Given the description of an element on the screen output the (x, y) to click on. 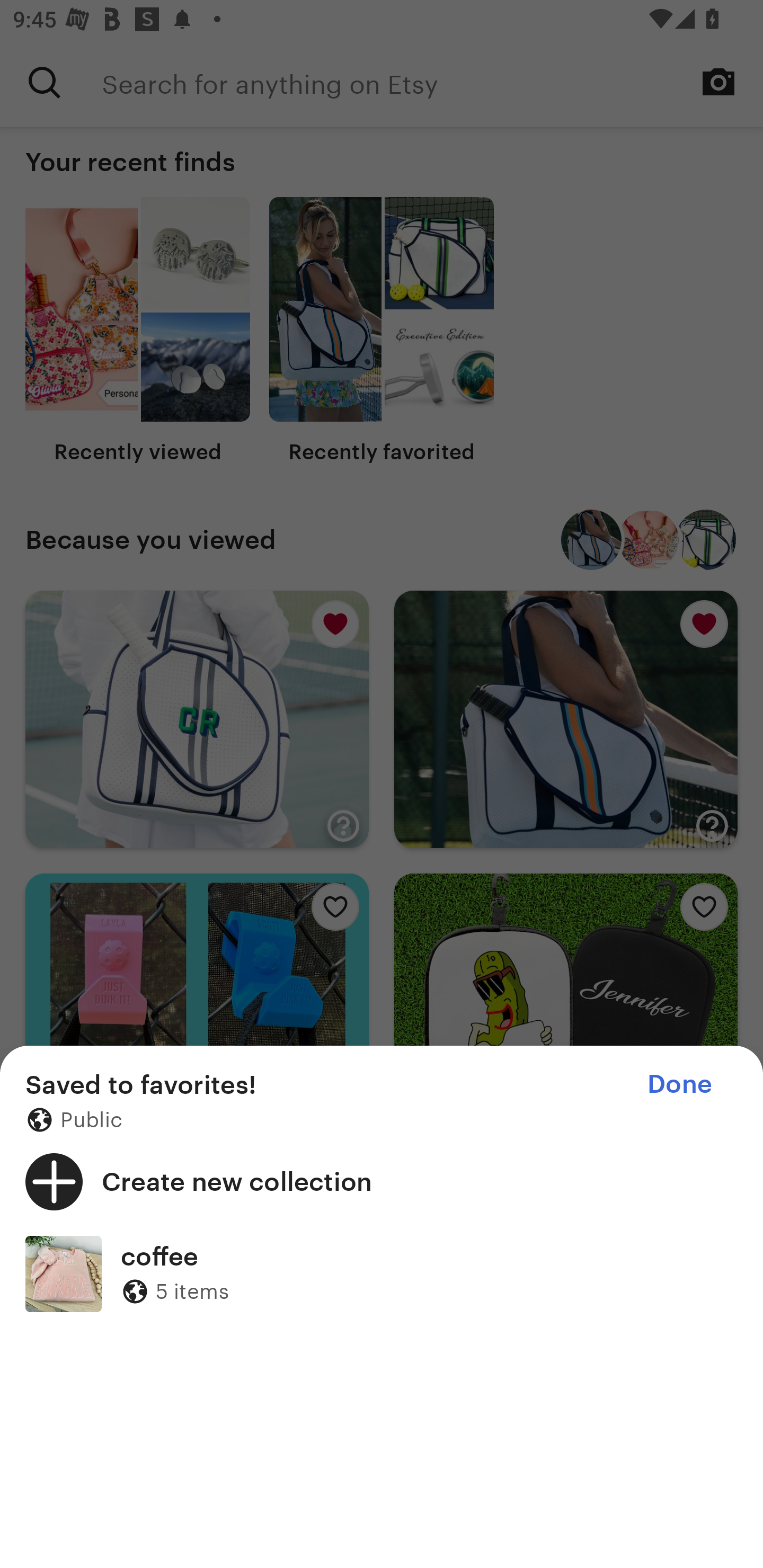
Done (679, 1083)
Create new collection (381, 1181)
coffee 5 items (381, 1273)
